Given the description of an element on the screen output the (x, y) to click on. 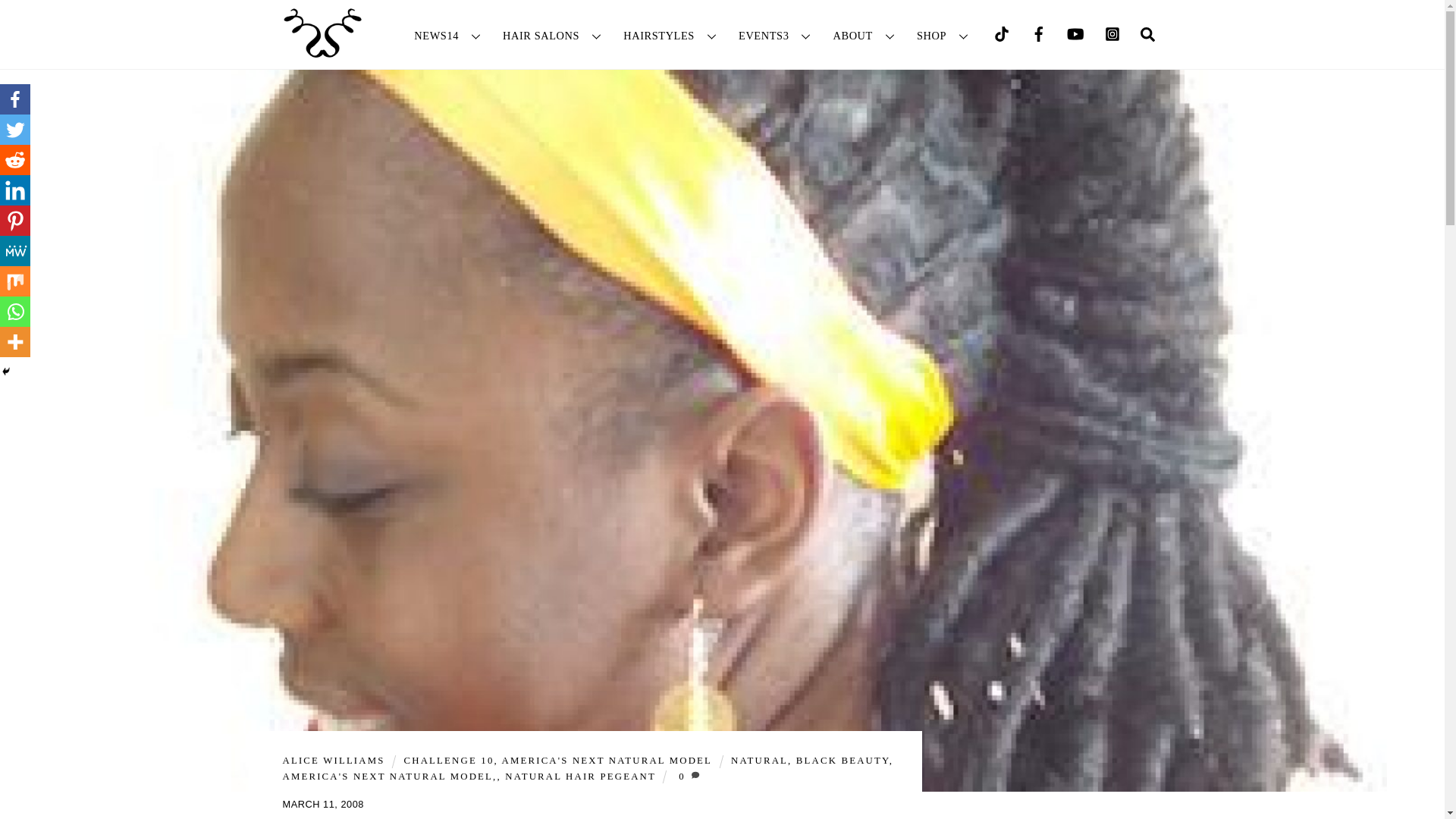
SHOP (944, 35)
Search (1146, 32)
HAIR SALONS (554, 35)
HAIRSTYLES (673, 35)
AMERICA'S NEXT NATURAL MODEL (607, 760)
Pinterest (15, 220)
Facebook (15, 99)
Linkedin (15, 190)
NEWS14 (450, 35)
EVENTS3 (777, 35)
Going Natural (321, 32)
Twitter (15, 129)
Reddit (15, 159)
NATURAL (758, 760)
BLACK BEAUTY (842, 760)
